Given the description of an element on the screen output the (x, y) to click on. 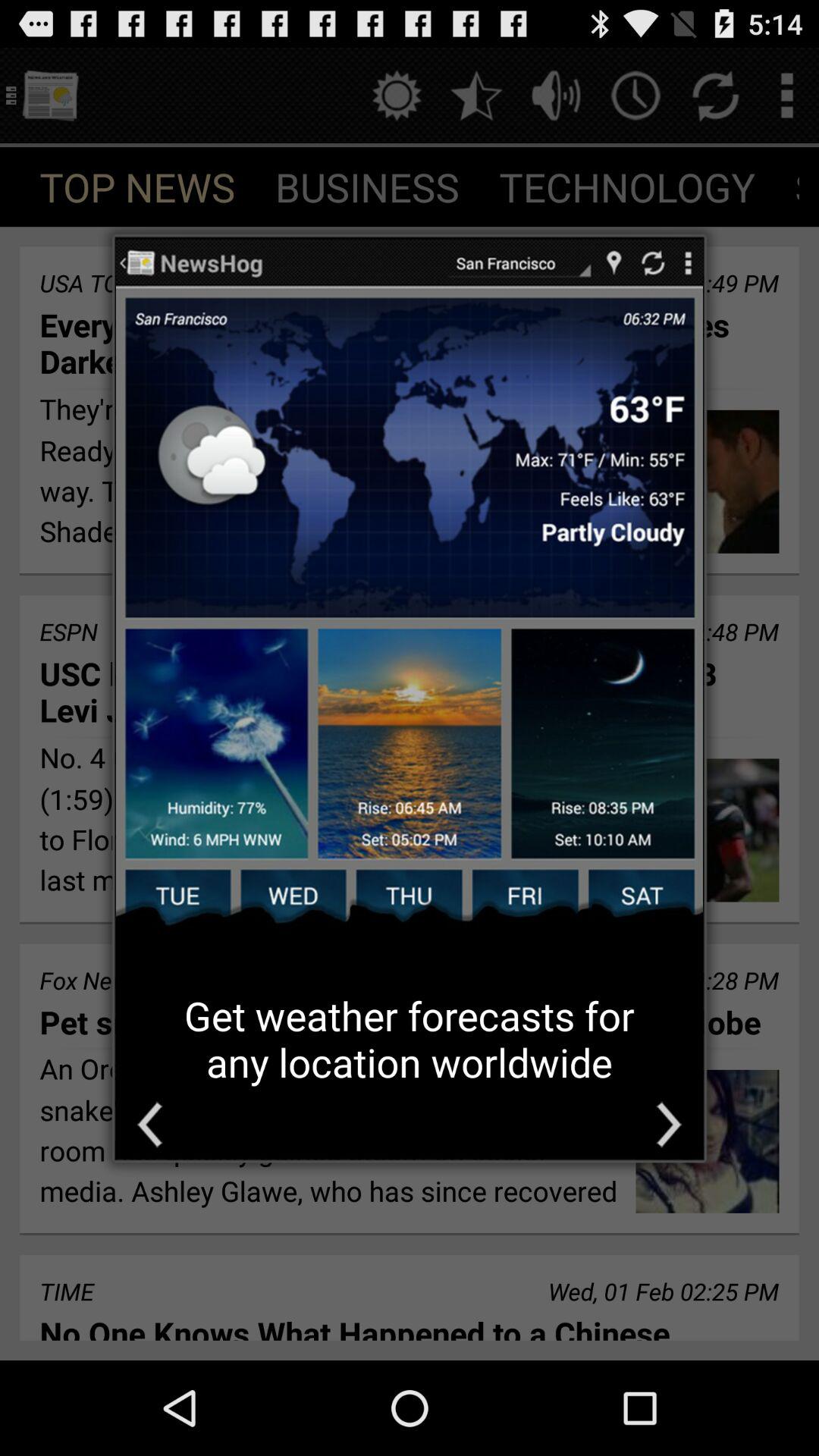
go next option (668, 1124)
